Given the description of an element on the screen output the (x, y) to click on. 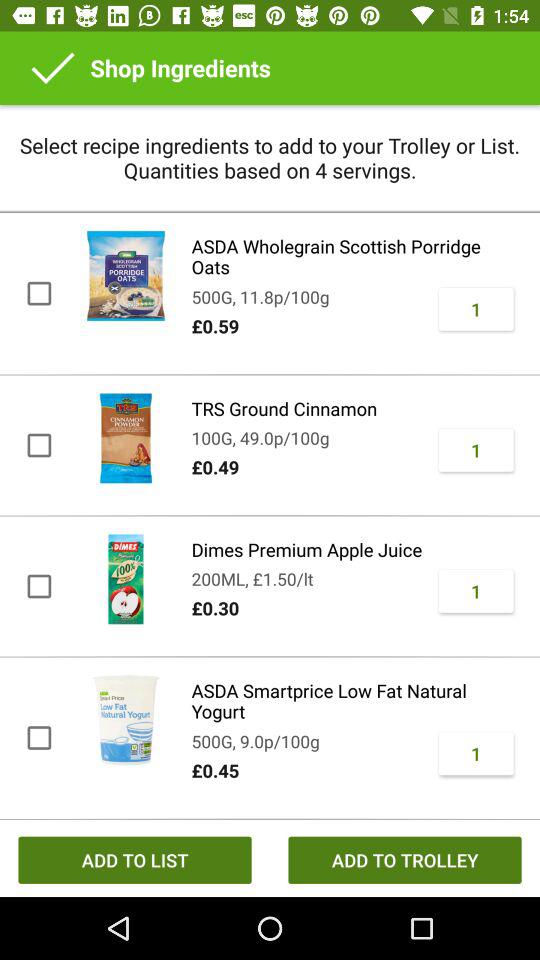
press icon to the left of shop ingredients (53, 68)
